Given the description of an element on the screen output the (x, y) to click on. 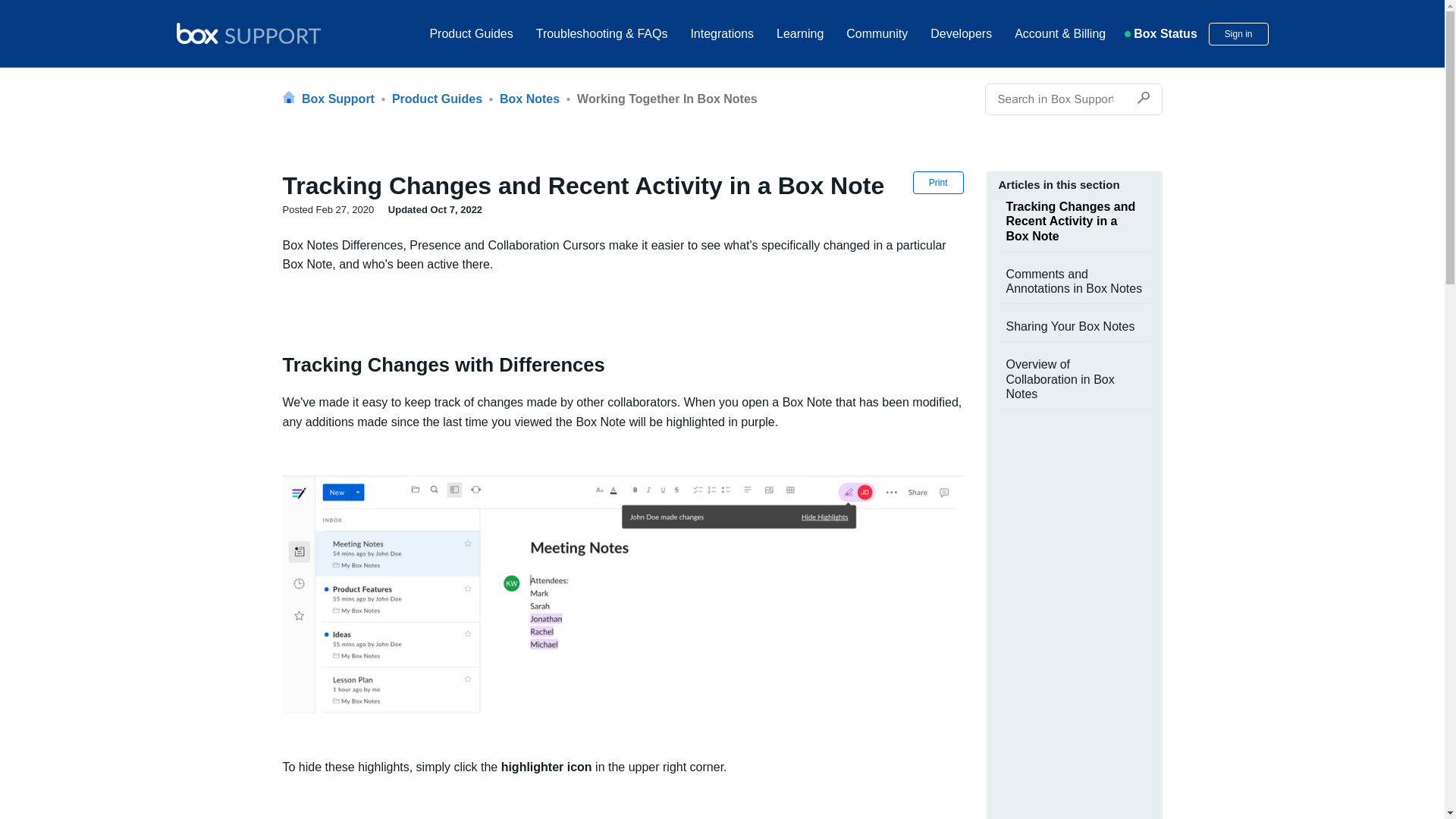
2020-02-26 23:39:10 UTC (328, 209)
Home (248, 34)
2020-02-27 07:39 (328, 209)
Tracking Changes and Recent Activity in a Box Note (597, 185)
2022-10-07 17:16 (429, 209)
Working Together in Box Notes (660, 98)
Box Notes (523, 98)
Opens a dialog (1238, 33)
Sign in (1238, 33)
2022-10-07 09:16:43 UTC (434, 209)
Box Status (1161, 33)
Box Support (329, 98)
Product Guides (430, 98)
Developers (960, 33)
